Given the description of an element on the screen output the (x, y) to click on. 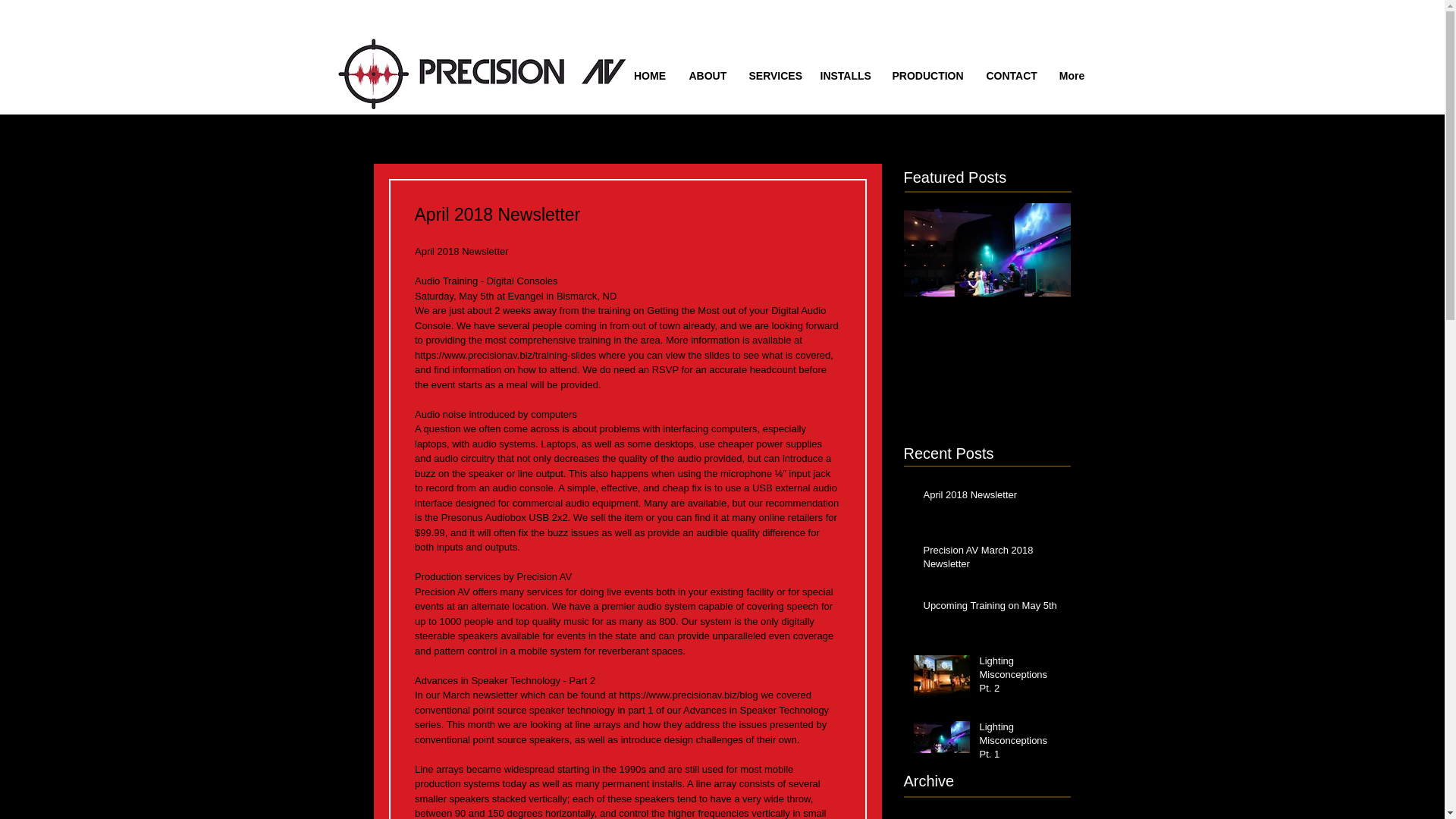
Lighting Misconceptions Pt. 1 (1020, 744)
INSTALLS (844, 76)
Lighting Misconceptions Pt. 1 (987, 335)
April 2018 Newsletter (992, 497)
HOME (649, 76)
Upcoming Training on May 5th (992, 608)
Lighting Misconceptions Pt. 2 (1020, 677)
PRODUCTION (927, 76)
CONTACT (1010, 76)
ABOUT (708, 76)
